Given the description of an element on the screen output the (x, y) to click on. 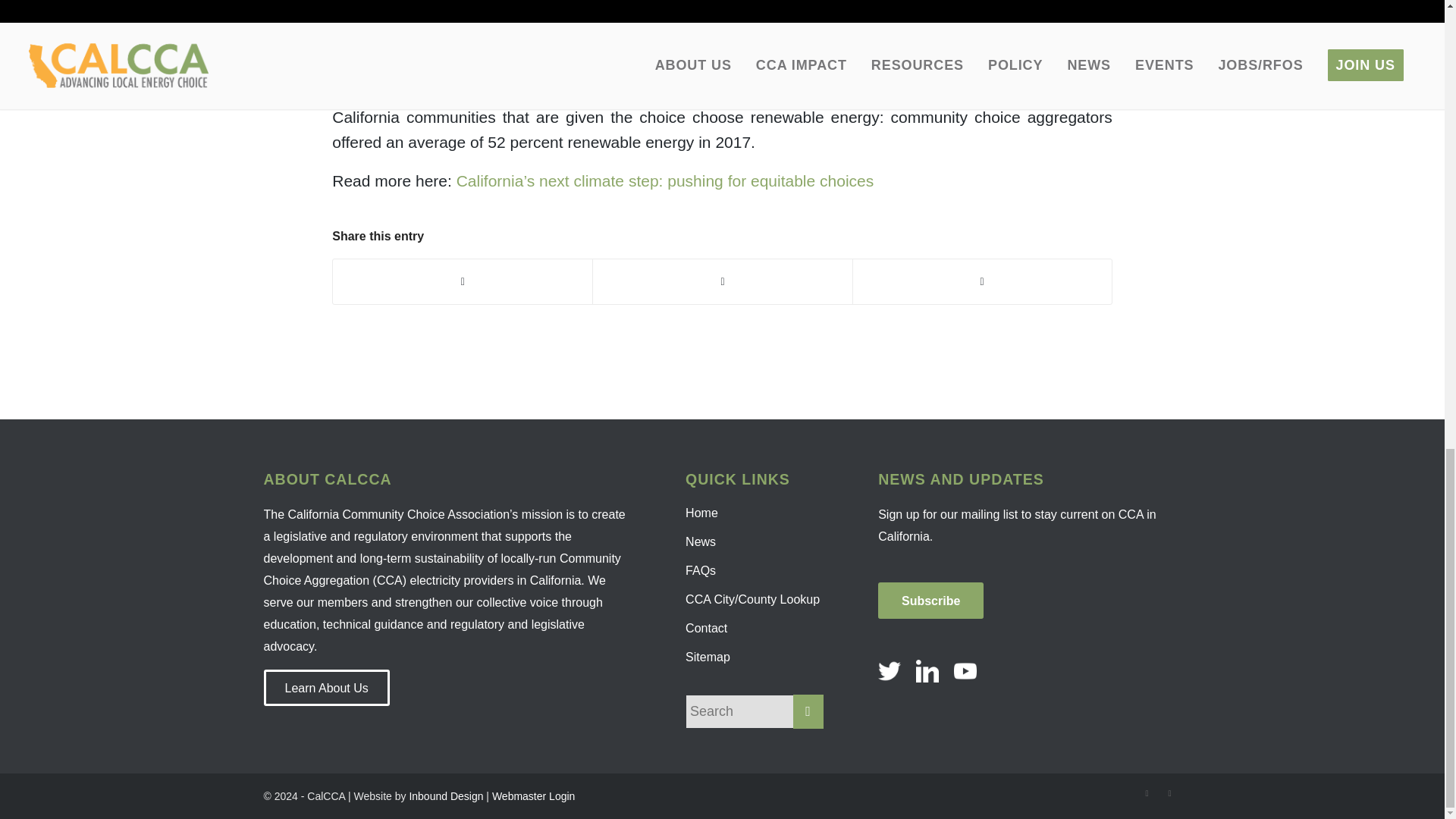
FAQs (754, 570)
Sitemap (754, 656)
Learn About Us (326, 687)
research (989, 91)
Home (754, 512)
LinkedIn (1169, 793)
News (754, 541)
Subscribe (930, 600)
Contact (754, 628)
Twitter (1146, 793)
